Given the description of an element on the screen output the (x, y) to click on. 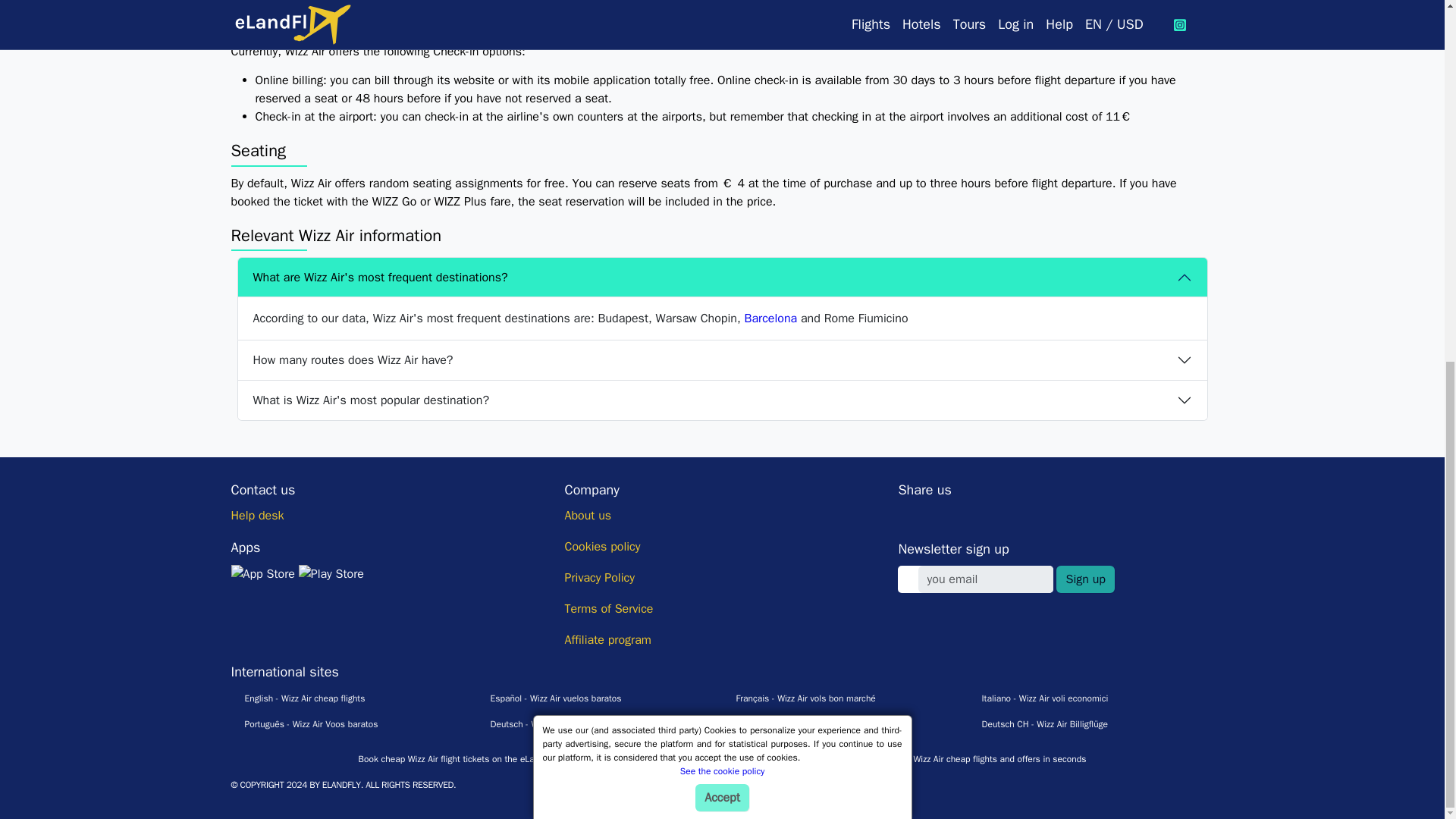
Sign up (1085, 578)
Barcelona (770, 318)
Italiano - Wizz Air voli economici (1038, 698)
Terms of Service (608, 608)
Privacy Policy (598, 577)
Affiliate program (607, 639)
Cookies policy (602, 546)
How many routes does Wizz Air have? (722, 360)
English - Wizz Air cheap flights (297, 698)
What is Wizz Air's most popular destination? (722, 400)
